Given the description of an element on the screen output the (x, y) to click on. 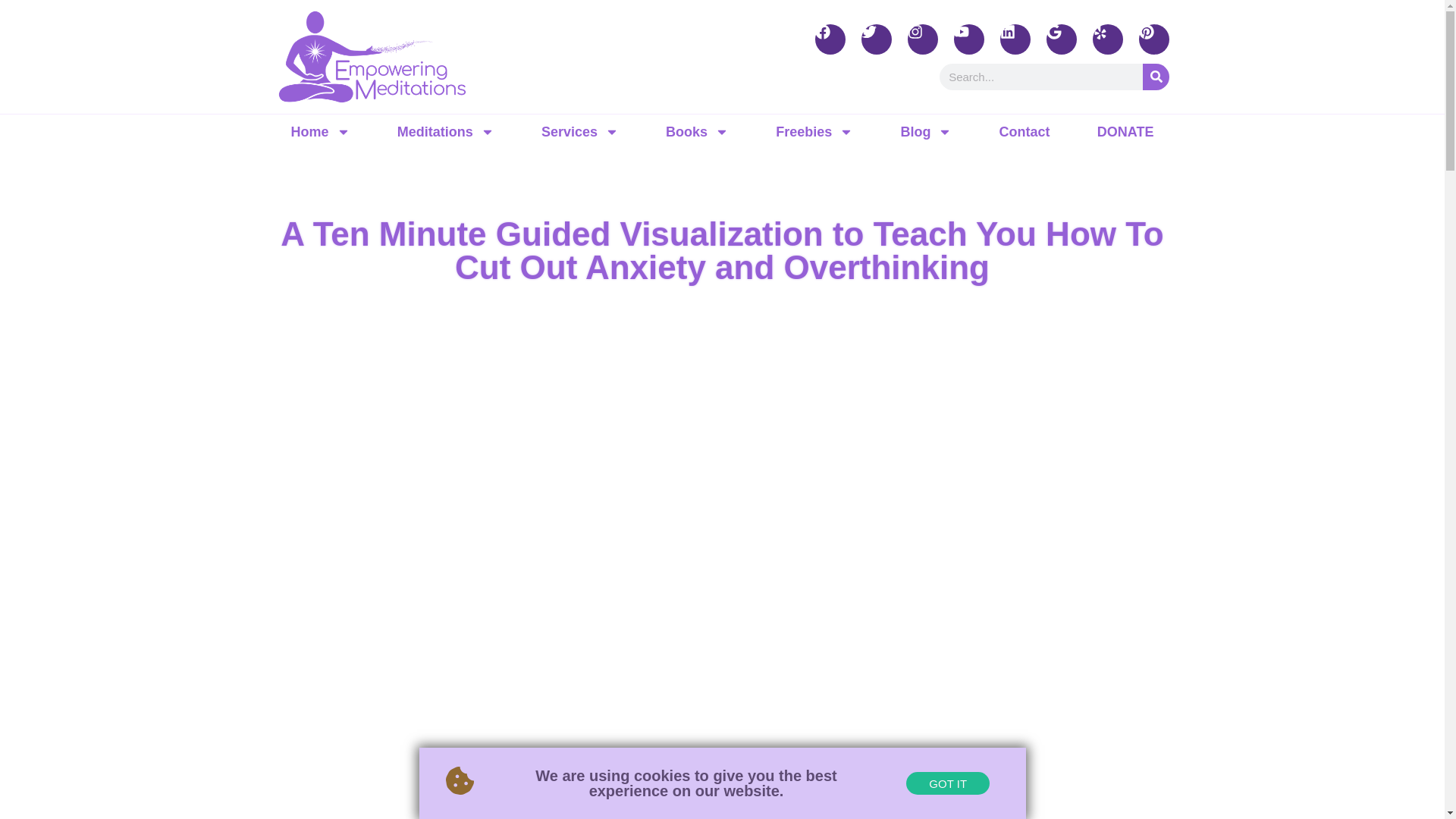
Freebies (814, 131)
Meditations (446, 131)
Home (319, 131)
Services (580, 131)
DONATE (1125, 131)
Contact (1024, 131)
Blog (925, 131)
Books (697, 131)
